Given the description of an element on the screen output the (x, y) to click on. 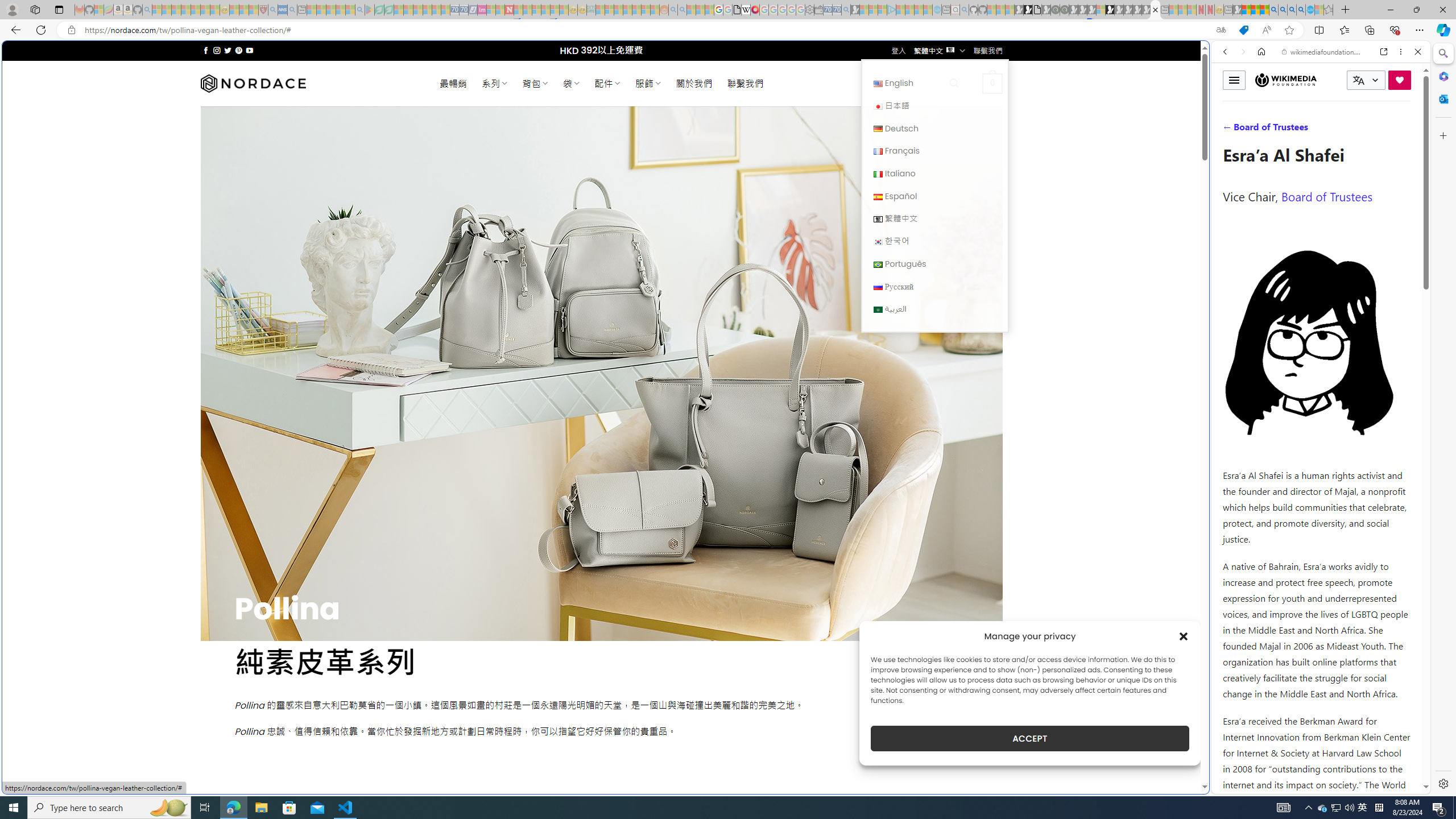
Bluey: Let's Play! - Apps on Google Play - Sleeping (369, 9)
